Given the description of an element on the screen output the (x, y) to click on. 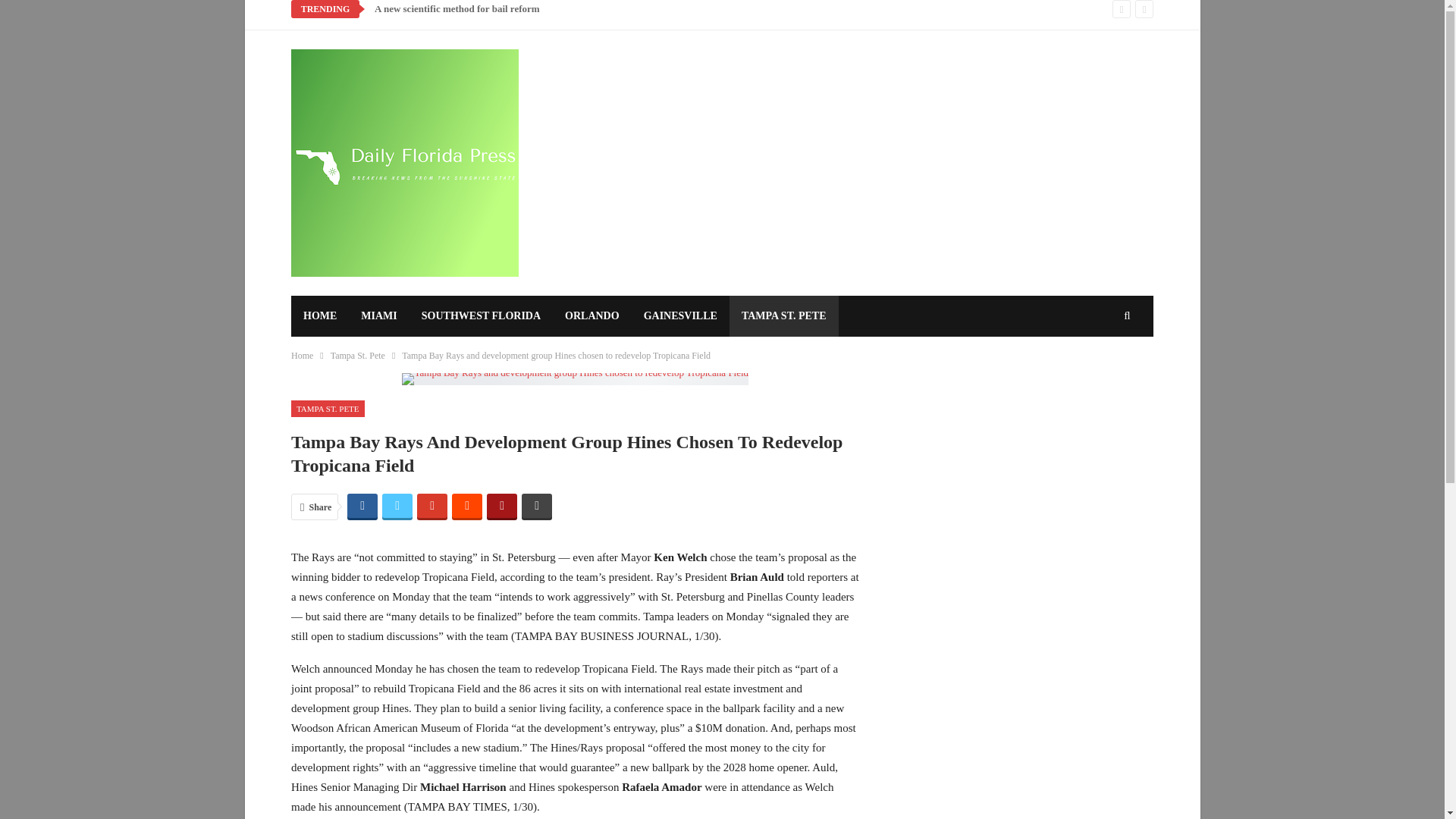
TAMPA ST. PETE (783, 315)
SOUTHWEST FLORIDA (481, 315)
GAINESVILLE (680, 315)
A new scientific method for bail reform (457, 8)
Home (302, 355)
MIAMI (379, 315)
Tampa St. Pete (357, 355)
TAMPA ST. PETE (328, 408)
ORLANDO (592, 315)
HOME (320, 315)
